Given the description of an element on the screen output the (x, y) to click on. 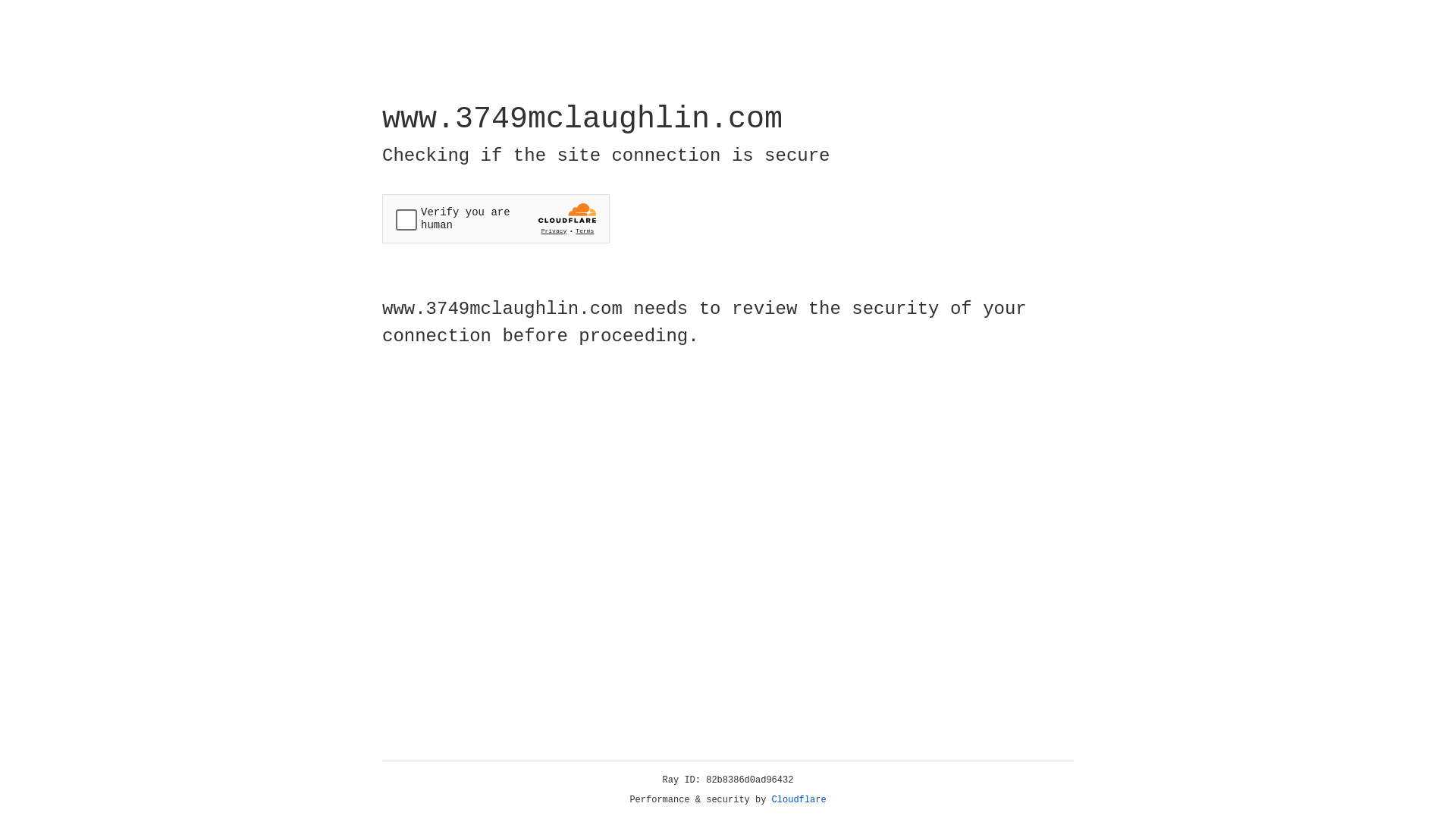
Cloudflare Element type: text (798, 799)
Widget containing a Cloudflare security challenge Element type: hover (495, 218)
